Given the description of an element on the screen output the (x, y) to click on. 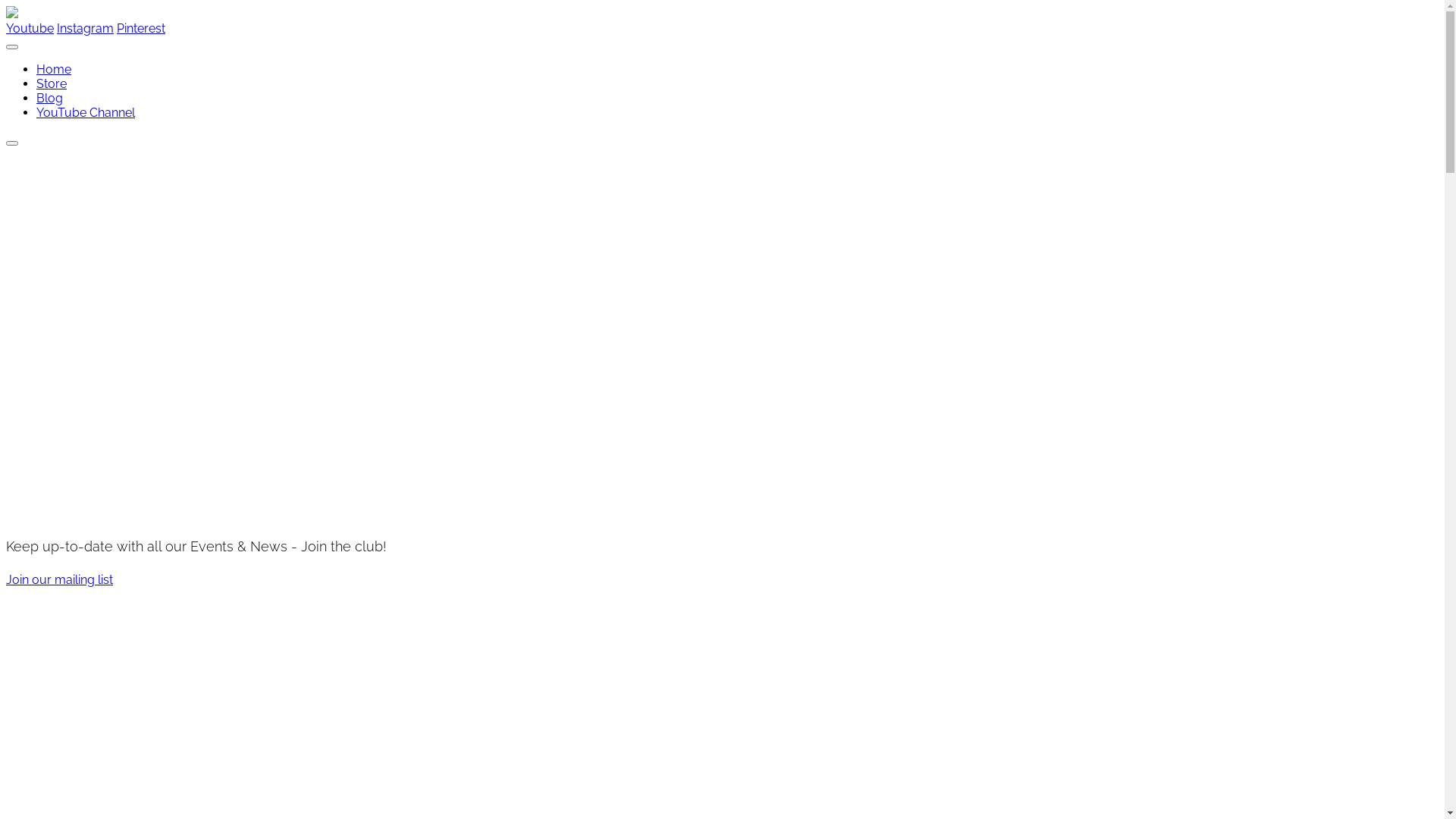
Join our mailing list Element type: text (59, 579)
Blog Element type: text (49, 98)
Home Element type: text (53, 69)
Pinterest Element type: text (140, 28)
Instagram Element type: text (84, 28)
Youtube Element type: text (29, 28)
YouTube Channel Element type: text (85, 112)
Store Element type: text (51, 83)
Skip to content Element type: text (5, 5)
